Given the description of an element on the screen output the (x, y) to click on. 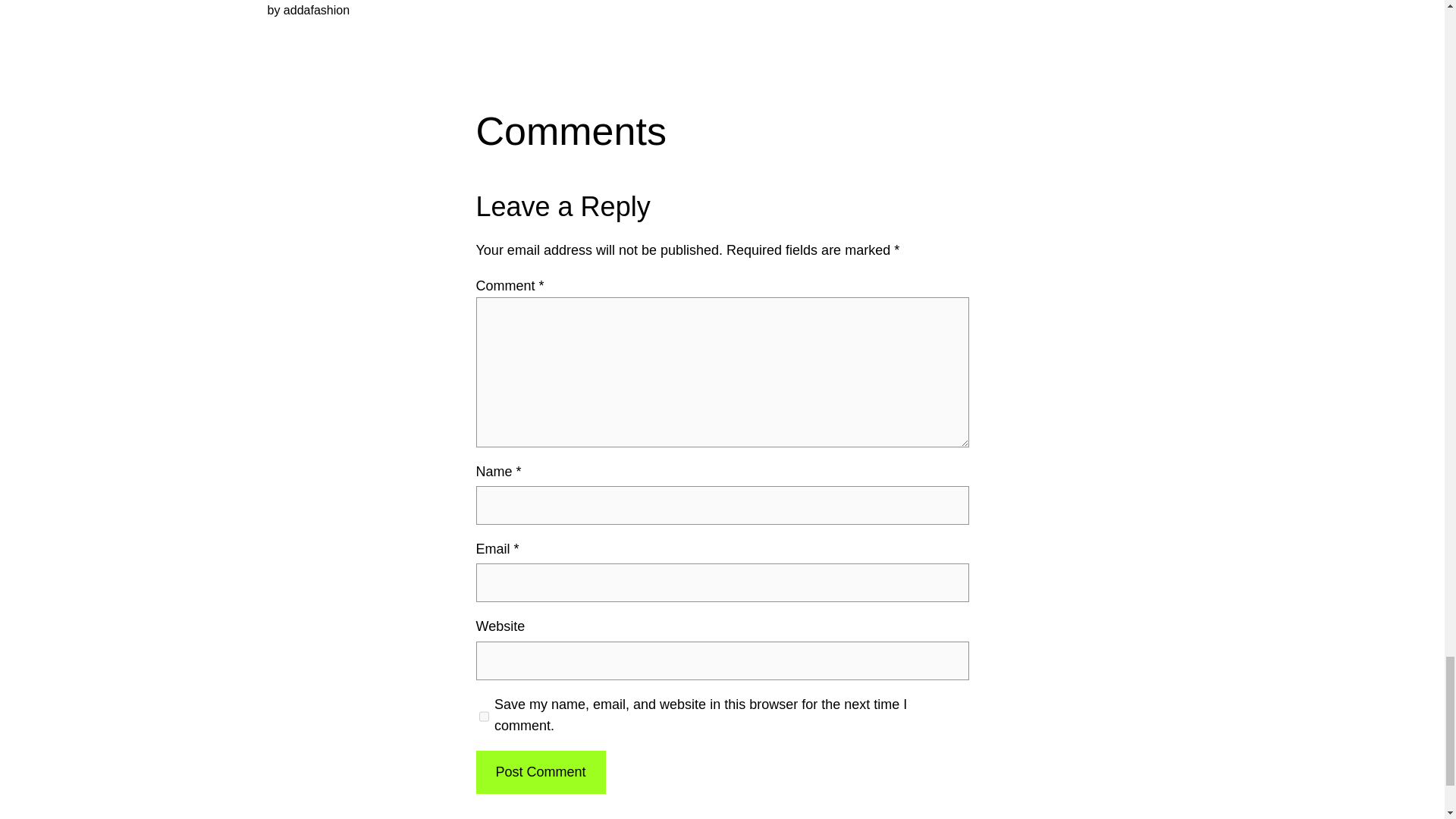
Post Comment (540, 772)
Post Comment (540, 772)
